Given the description of an element on the screen output the (x, y) to click on. 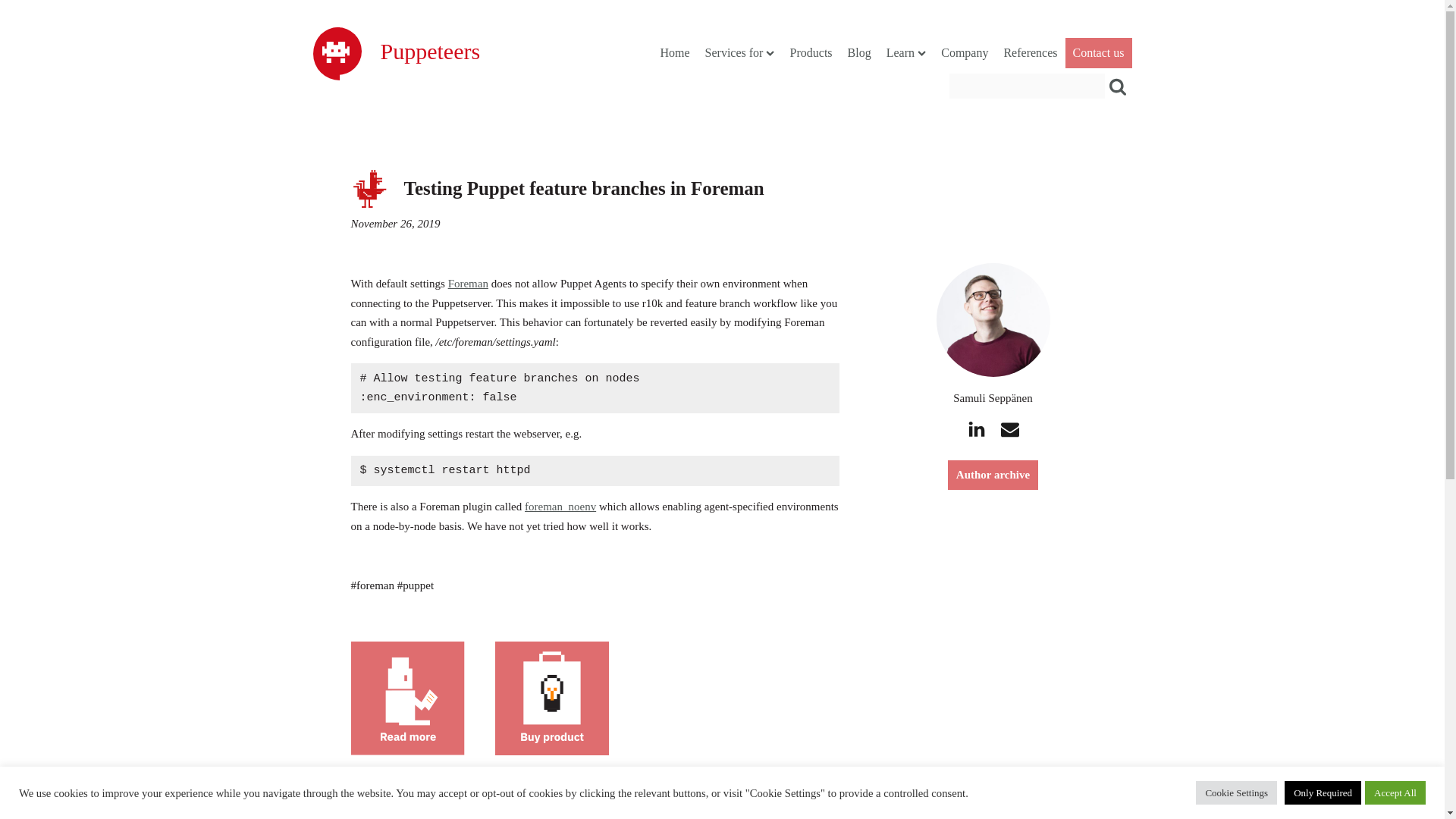
Products (811, 52)
Puppeteers (430, 59)
Services for (740, 52)
Learn (906, 52)
Blog (859, 52)
Contact us (1097, 52)
Company (964, 52)
Home (674, 52)
Author archive (992, 474)
Foreman (467, 283)
References (1029, 52)
